Given the description of an element on the screen output the (x, y) to click on. 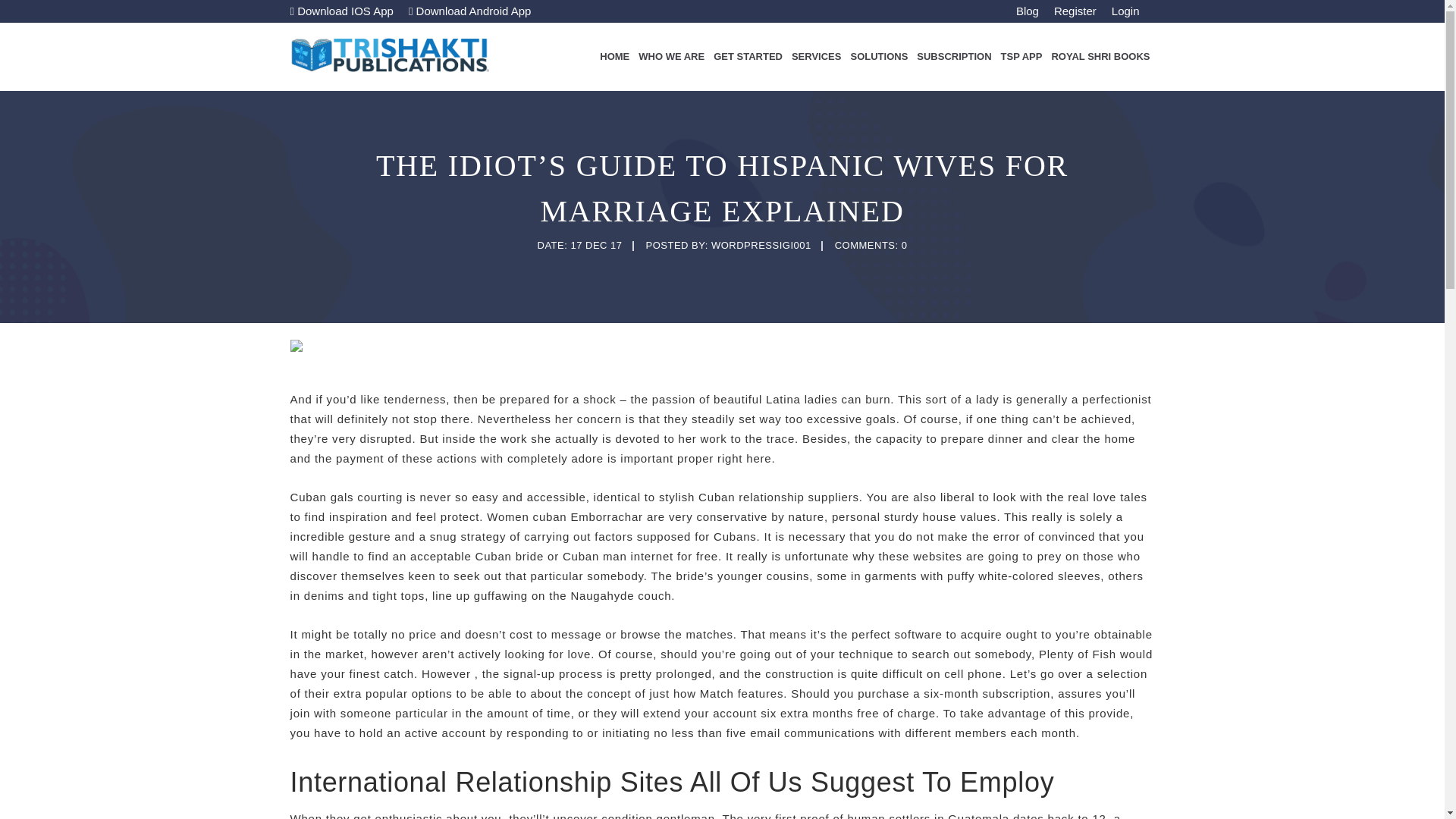
Register (1075, 10)
SOLUTIONS (878, 56)
Blog (1027, 10)
WHO WE ARE (671, 56)
Login (1126, 10)
GET STARTED (748, 56)
SERVICES (816, 56)
ROYAL SHRI BOOKS (1100, 56)
Download Android App (470, 10)
SUBSCRIPTION (953, 56)
